Given the description of an element on the screen output the (x, y) to click on. 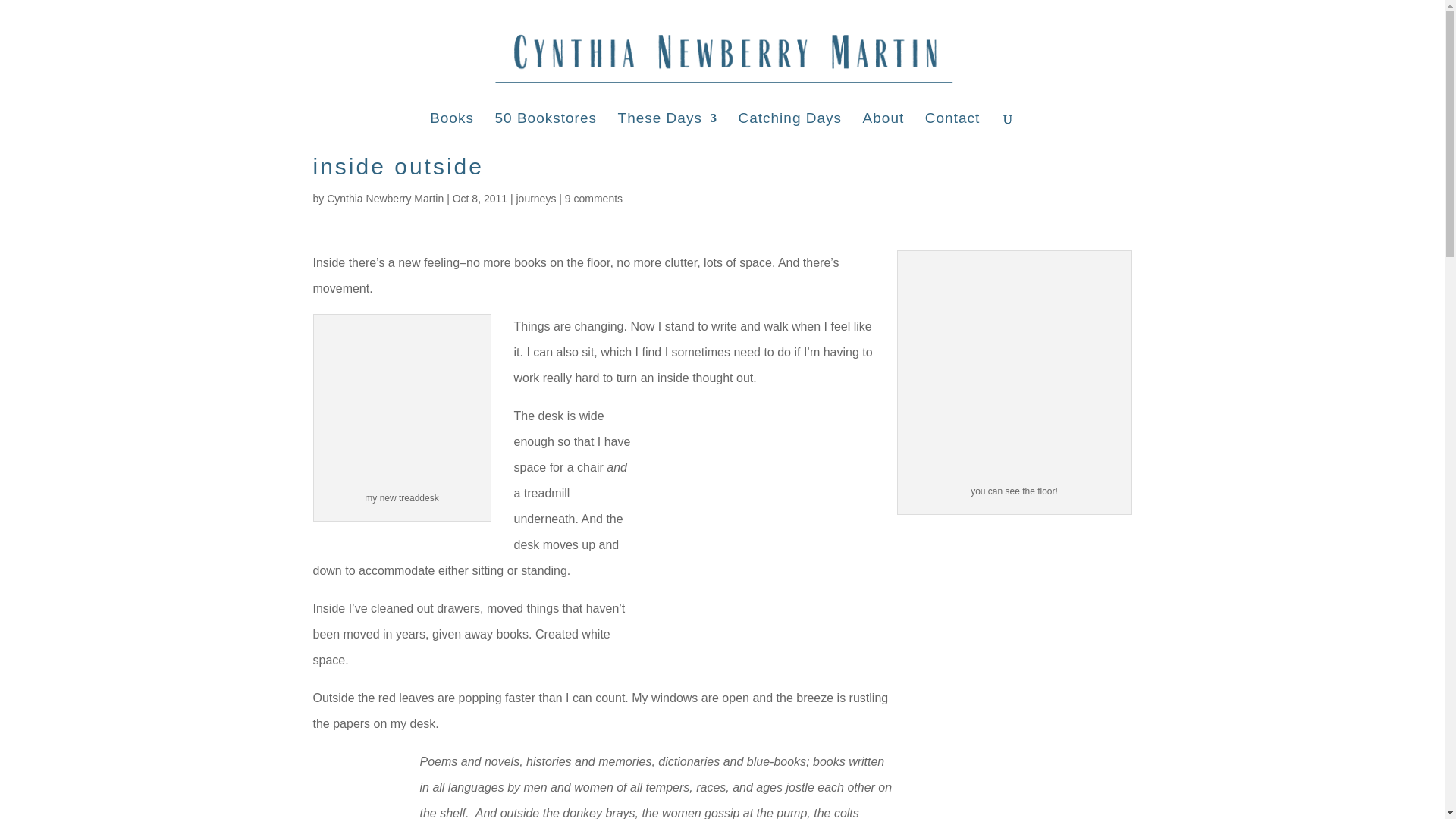
DSC03083 (1017, 752)
These Days (667, 128)
Posts by Cynthia Newberry Martin (385, 198)
DSC03068 (402, 403)
Cynthia Newberry Martin (385, 198)
Catching Days (789, 128)
9 comments (593, 198)
Books (451, 128)
Contact (951, 128)
50 Bookstores (545, 128)
